Given the description of an element on the screen output the (x, y) to click on. 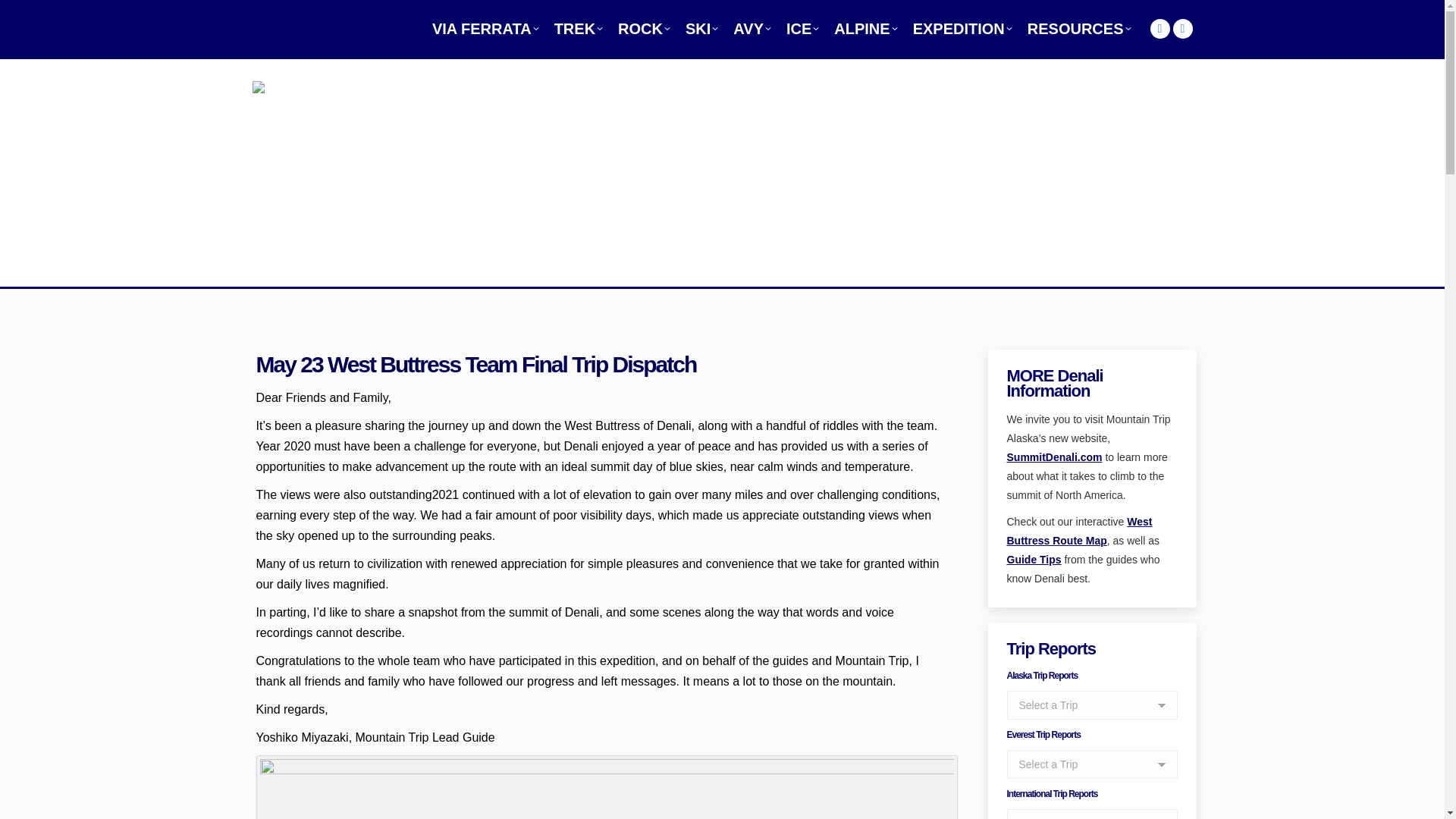
ALPINE (865, 27)
AVY (751, 27)
ICE (802, 27)
ROCK (644, 27)
Instagram page opens in new window (1159, 28)
SKI (701, 27)
VIA FERRATA (485, 27)
TREK (578, 27)
Facebook page opens in new window (1182, 28)
